Given the description of an element on the screen output the (x, y) to click on. 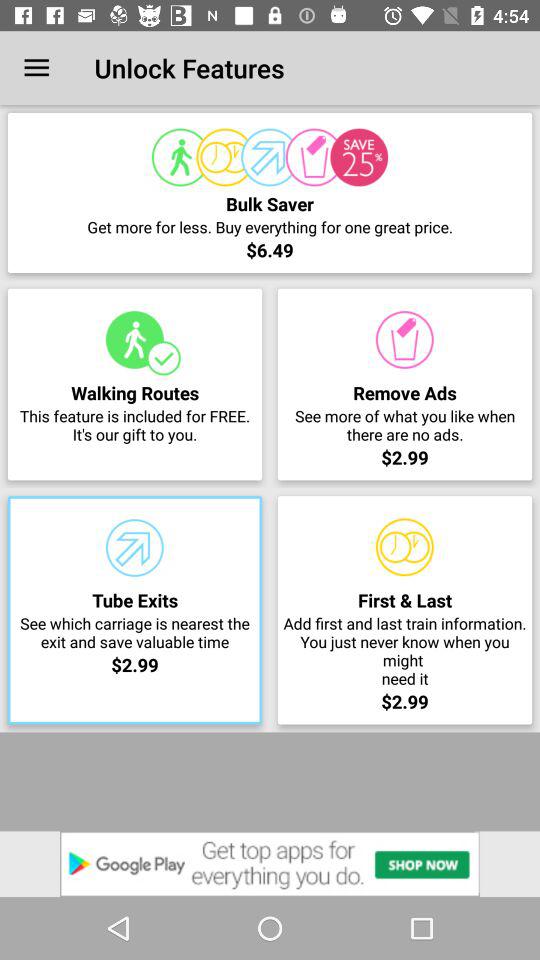
open advertisement for google play (270, 864)
